Given the description of an element on the screen output the (x, y) to click on. 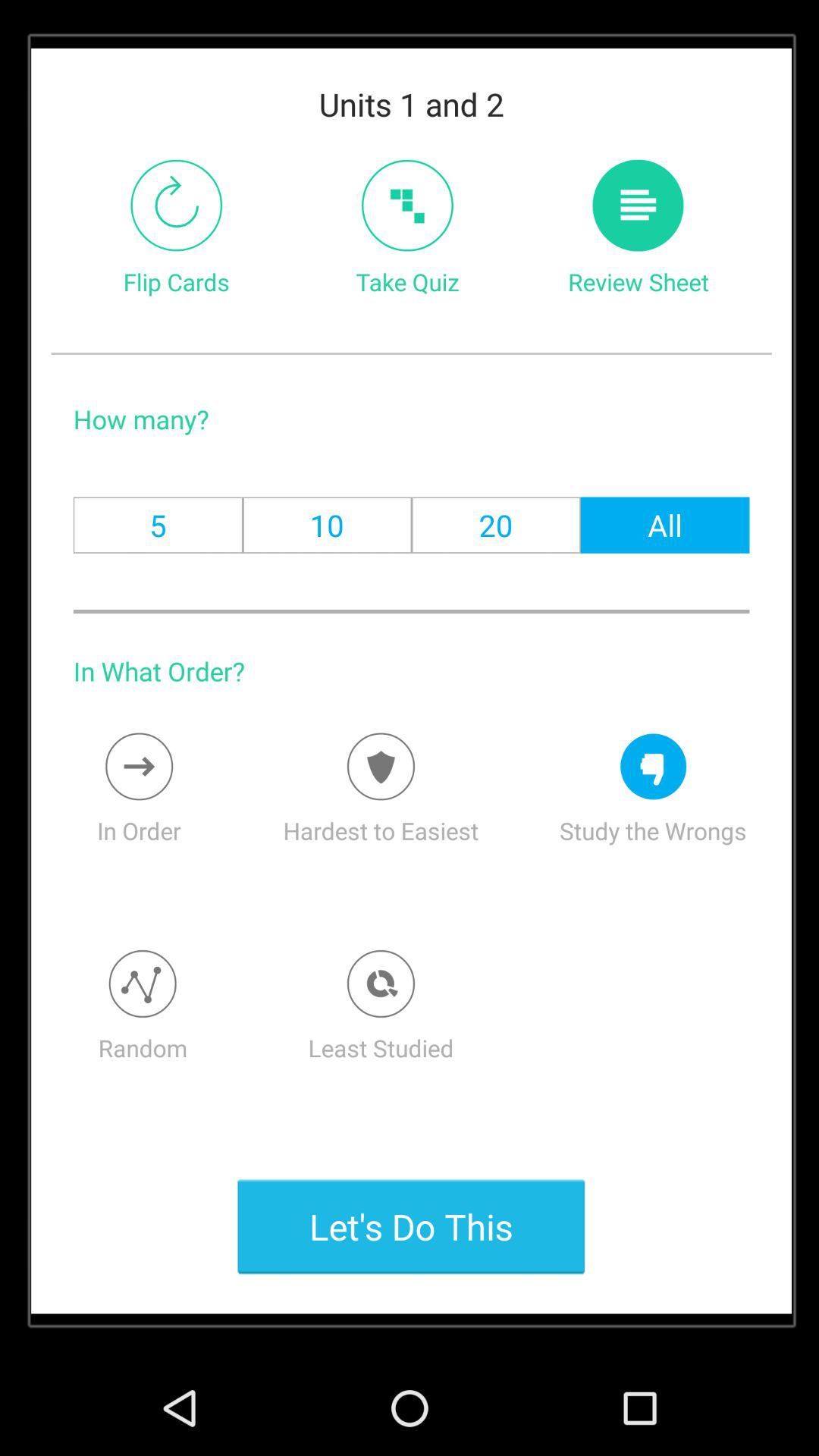
tap the item next to all (495, 525)
